Given the description of an element on the screen output the (x, y) to click on. 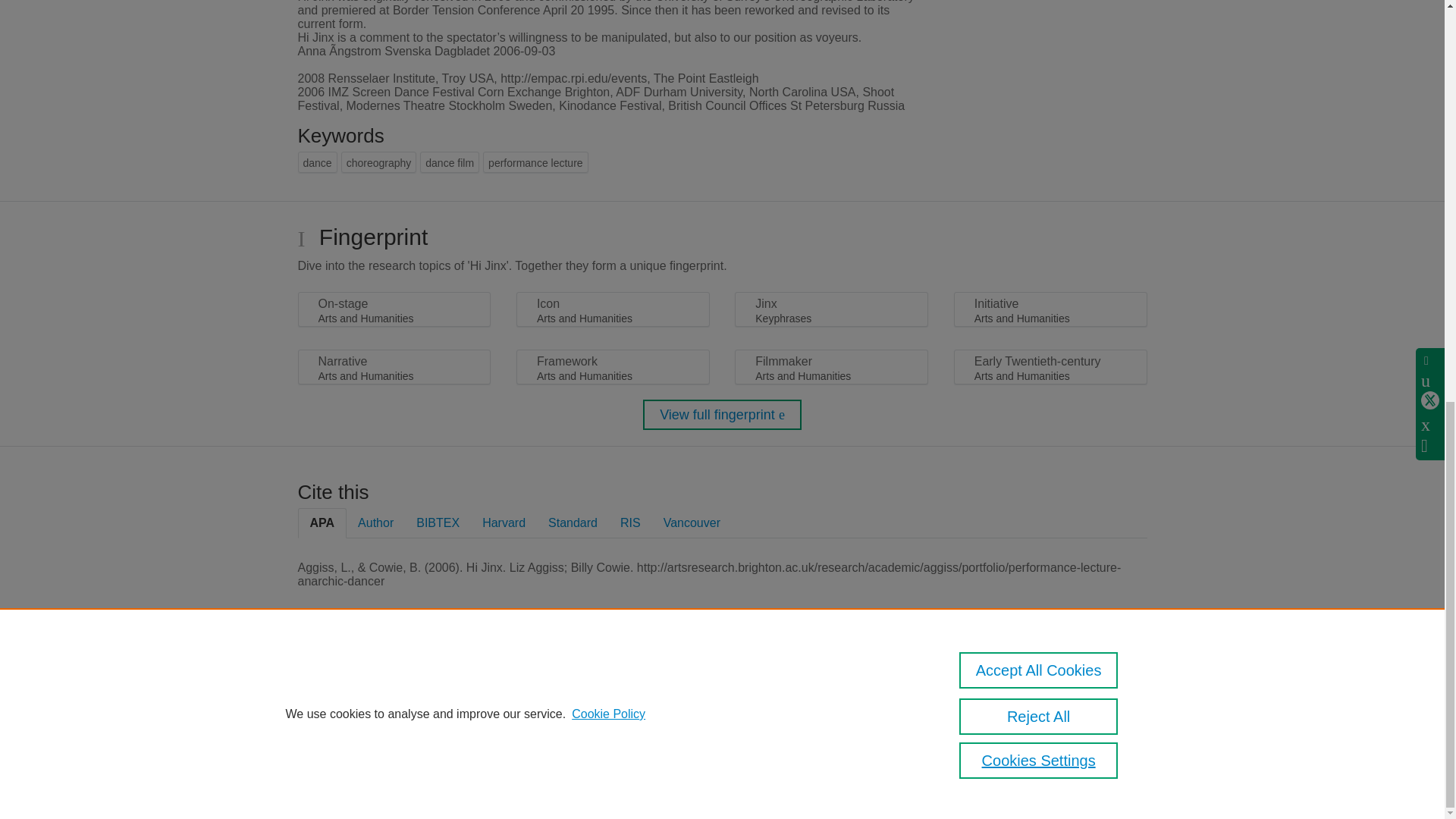
Elsevier B.V. (506, 707)
use of cookies (796, 739)
Pure (362, 686)
Cookies Settings (334, 760)
The University of Brighton data protection policy (999, 692)
View full fingerprint (722, 414)
Scopus (394, 686)
Log in to Pure (327, 781)
